Given the description of an element on the screen output the (x, y) to click on. 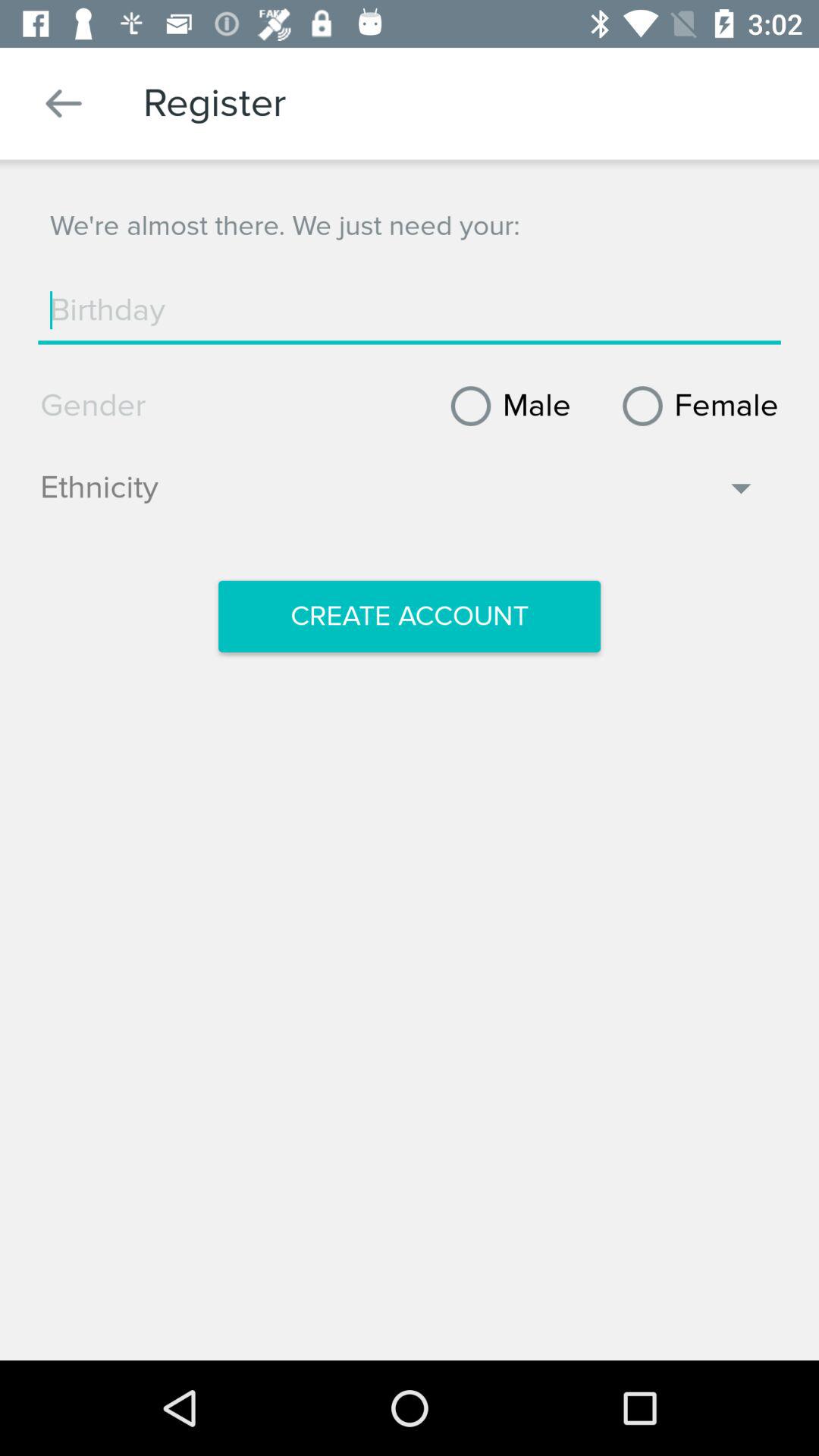
click item above the we re almost (63, 103)
